Given the description of an element on the screen output the (x, y) to click on. 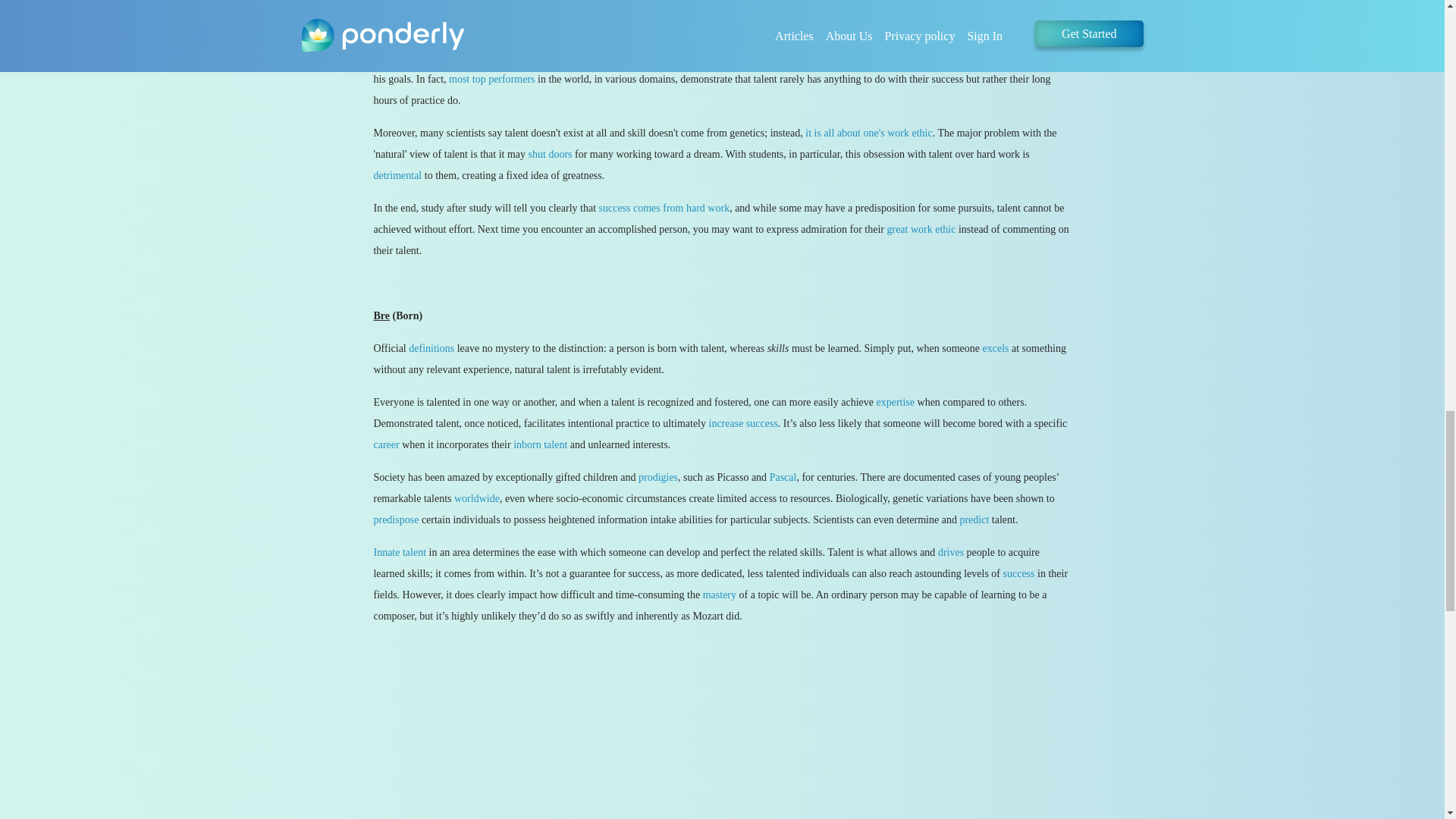
not exist without a strong work ethic. (525, 4)
it is all about one's work ethic (868, 132)
innate talent (522, 36)
success comes from hard work (664, 207)
definitions (431, 348)
great work ethic (920, 229)
expertise (895, 401)
detrimental (397, 174)
increase success (742, 423)
shut doors (550, 153)
